Given the description of an element on the screen output the (x, y) to click on. 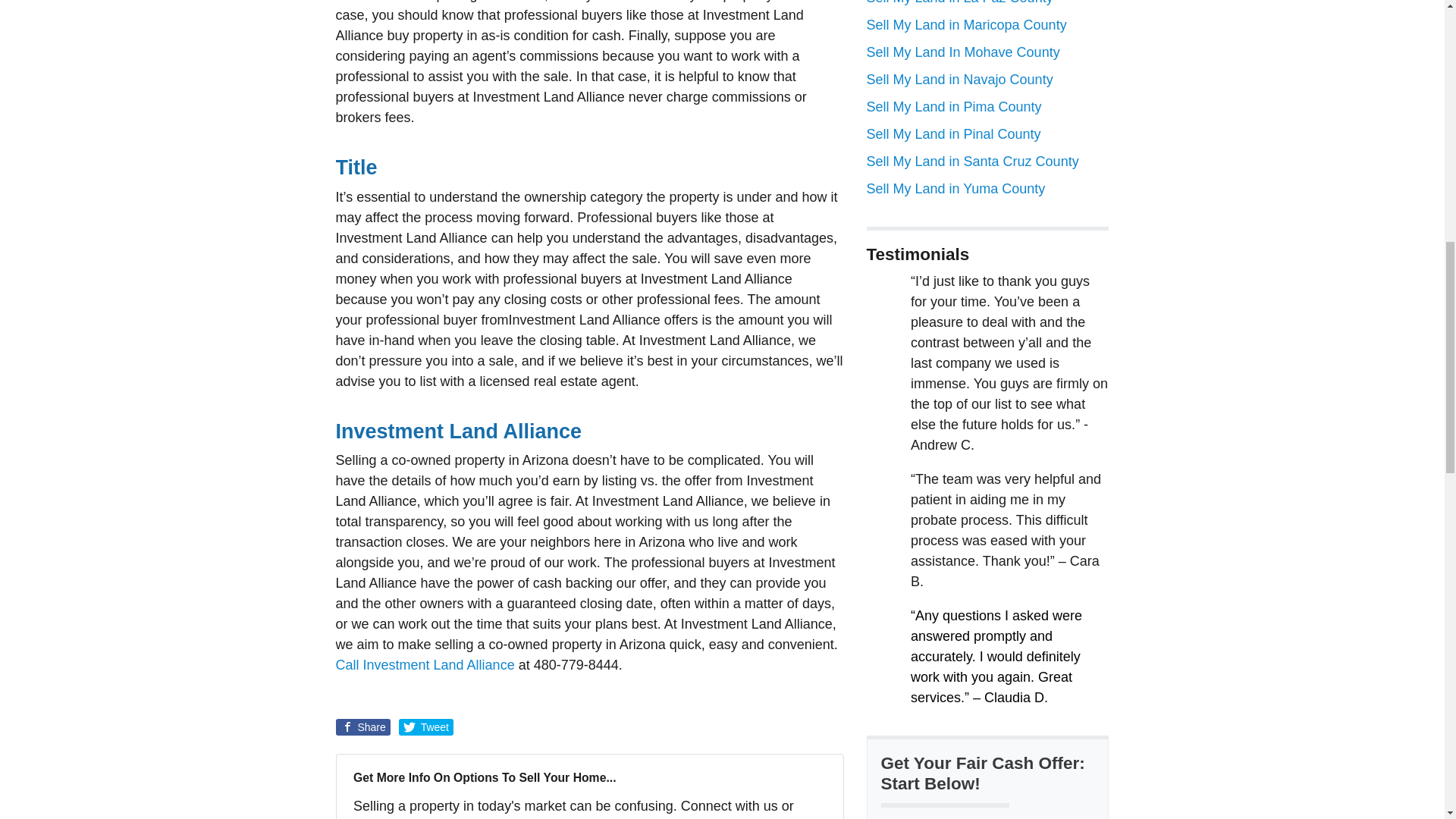
Sell My Land in Navajo County (959, 79)
Share on Twitter (425, 727)
Sell My Land in La Paz County (959, 2)
Share (362, 727)
Share on Facebook (362, 727)
Sell My Land In Mohave County (962, 52)
Sell My Land in Pima County (953, 106)
Sell My Land in Pinal County (953, 133)
Tweet (425, 727)
Sell My Land in Santa Cruz County (972, 160)
Call Investment Land Alliance (423, 664)
Sell My Land in Maricopa County (965, 24)
Sell My Land in Yuma County (955, 188)
